Given the description of an element on the screen output the (x, y) to click on. 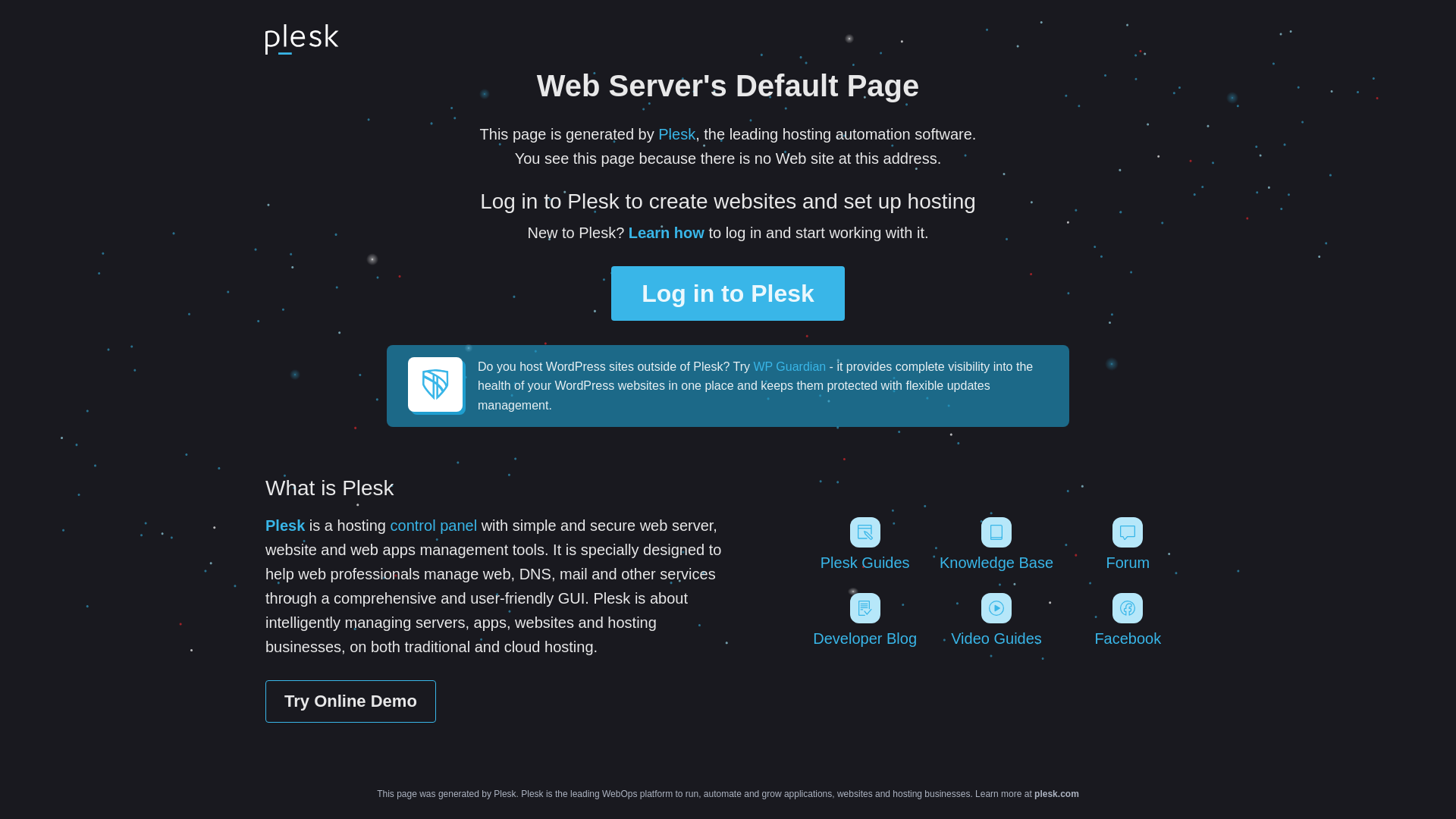
Plesk Element type: text (284, 525)
control panel Element type: text (433, 525)
WP Guardian Element type: text (789, 366)
plesk.com Element type: text (1056, 793)
Plesk Guides Element type: text (864, 544)
Knowledge Base Element type: text (995, 544)
Try Online Demo Element type: text (350, 701)
Facebook Element type: text (1127, 619)
Plesk Element type: text (676, 133)
Developer Blog Element type: text (864, 619)
Video Guides Element type: text (995, 619)
Forum Element type: text (1127, 544)
Log in to Plesk Element type: text (727, 293)
Learn how Element type: text (666, 232)
